Given the description of an element on the screen output the (x, y) to click on. 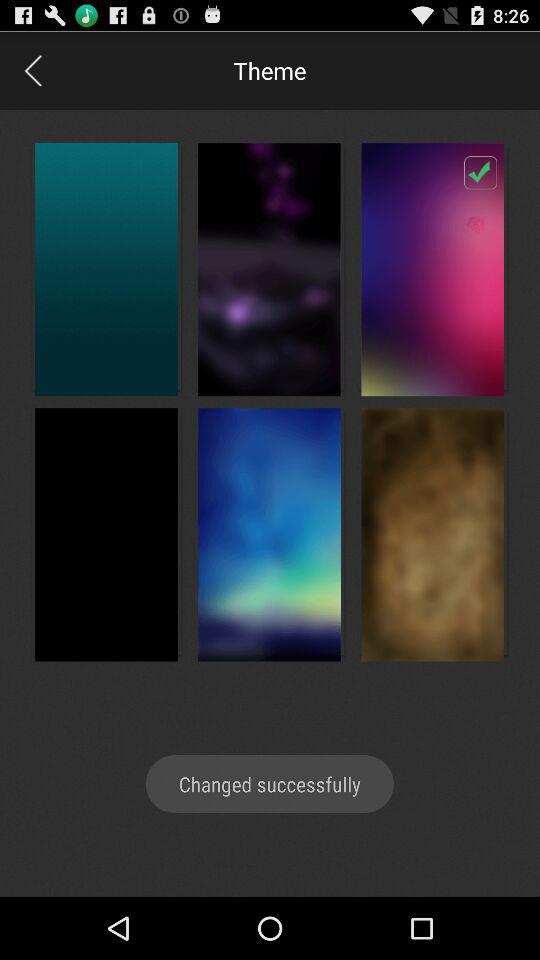
go back (32, 70)
